Given the description of an element on the screen output the (x, y) to click on. 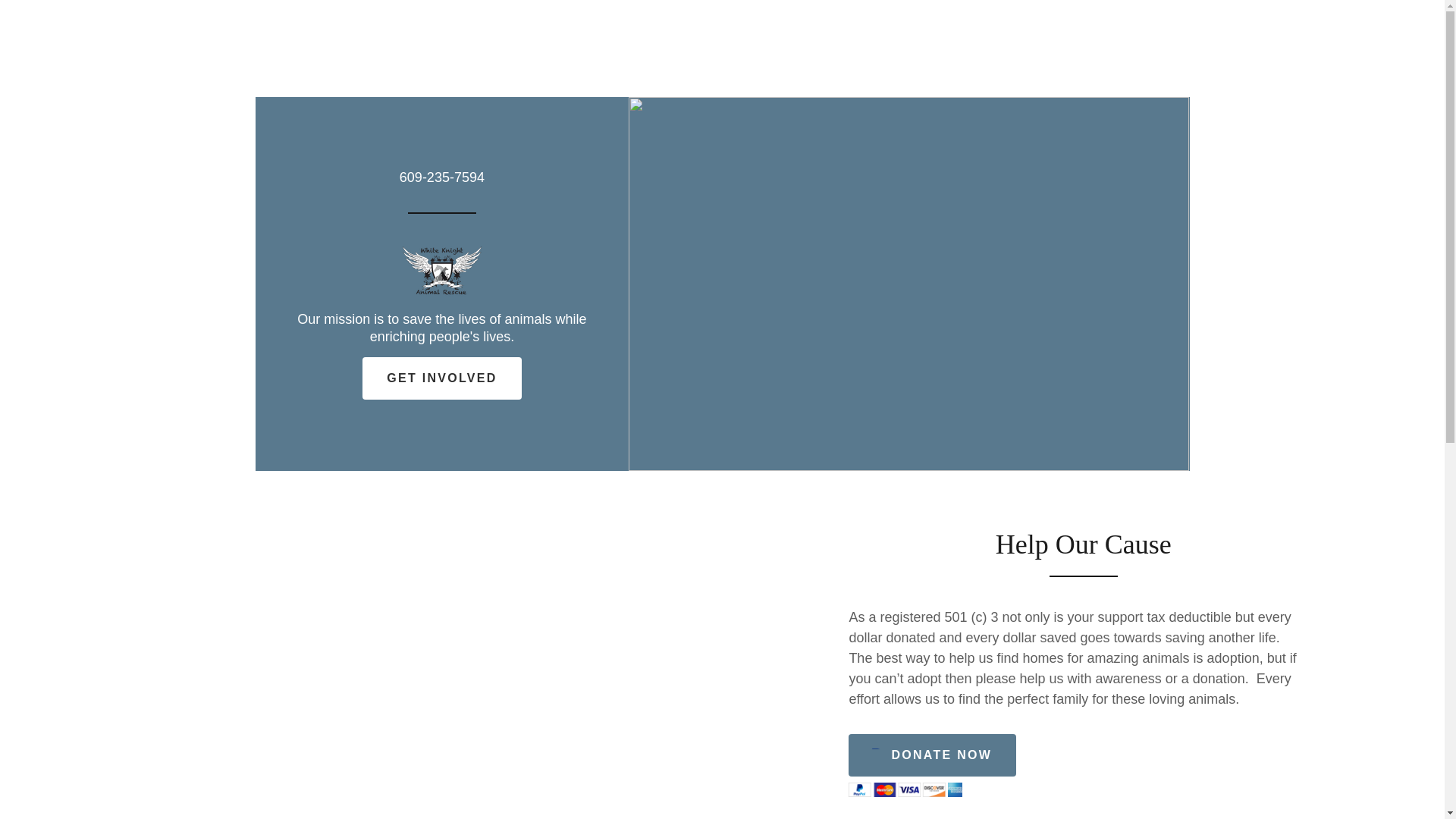
DONATE NOW (932, 754)
GET INVOLVED (441, 378)
White Knight Animal Rescue (442, 267)
609-235-7594 (441, 177)
